Given the description of an element on the screen output the (x, y) to click on. 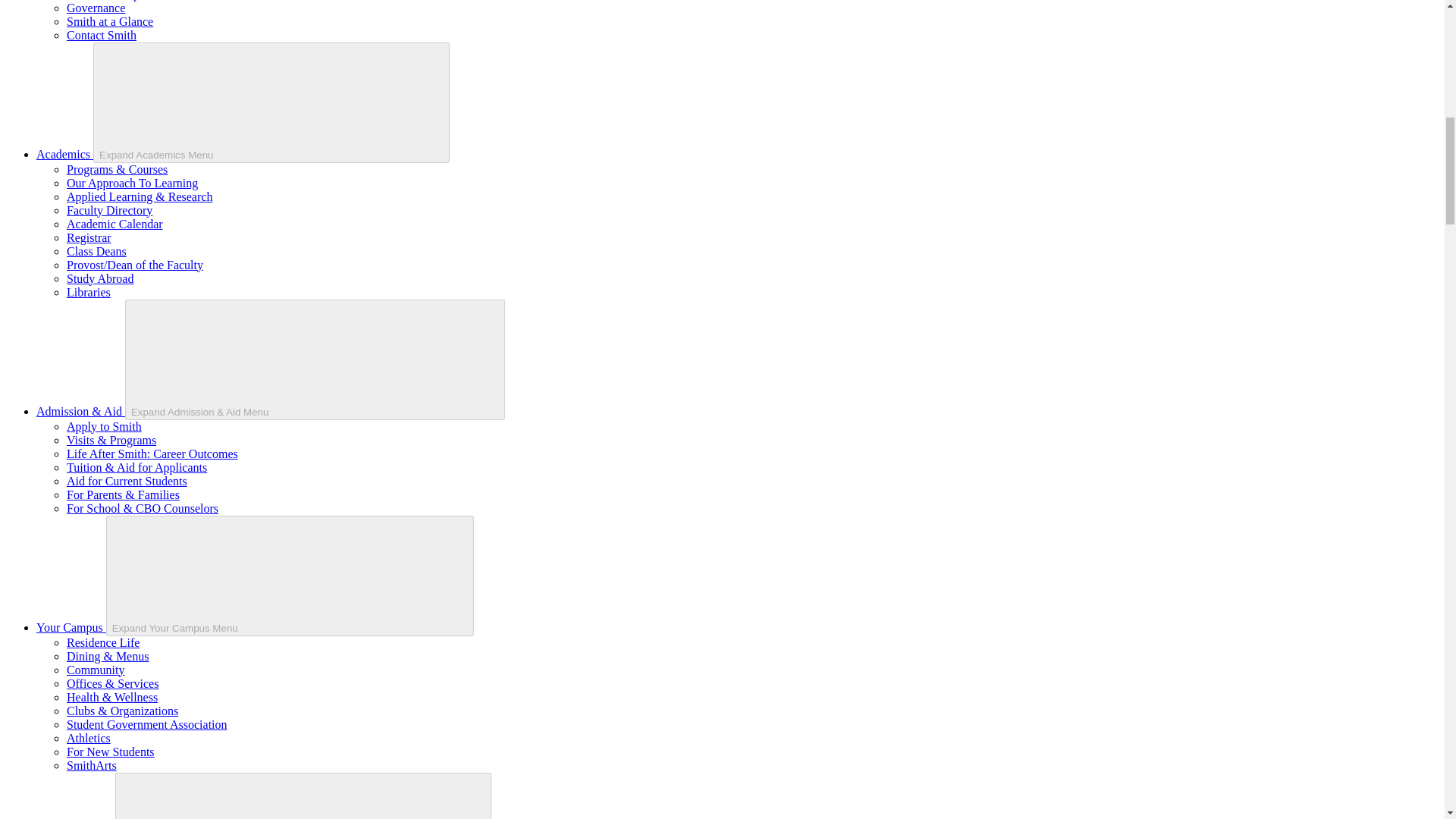
Aid for Current Students (126, 481)
Class Deans (96, 250)
Study Abroad (99, 278)
Libraries (88, 291)
Governance (95, 7)
Expand Academics Menu (271, 102)
Academics (64, 154)
Our Approach To Learning (132, 182)
Life After Smith: Career Outcomes (152, 453)
Registrar (89, 237)
Smith at a Glance (109, 21)
Apply to Smith (103, 426)
Academic Calendar (114, 223)
Contact Smith (101, 34)
